Given the description of an element on the screen output the (x, y) to click on. 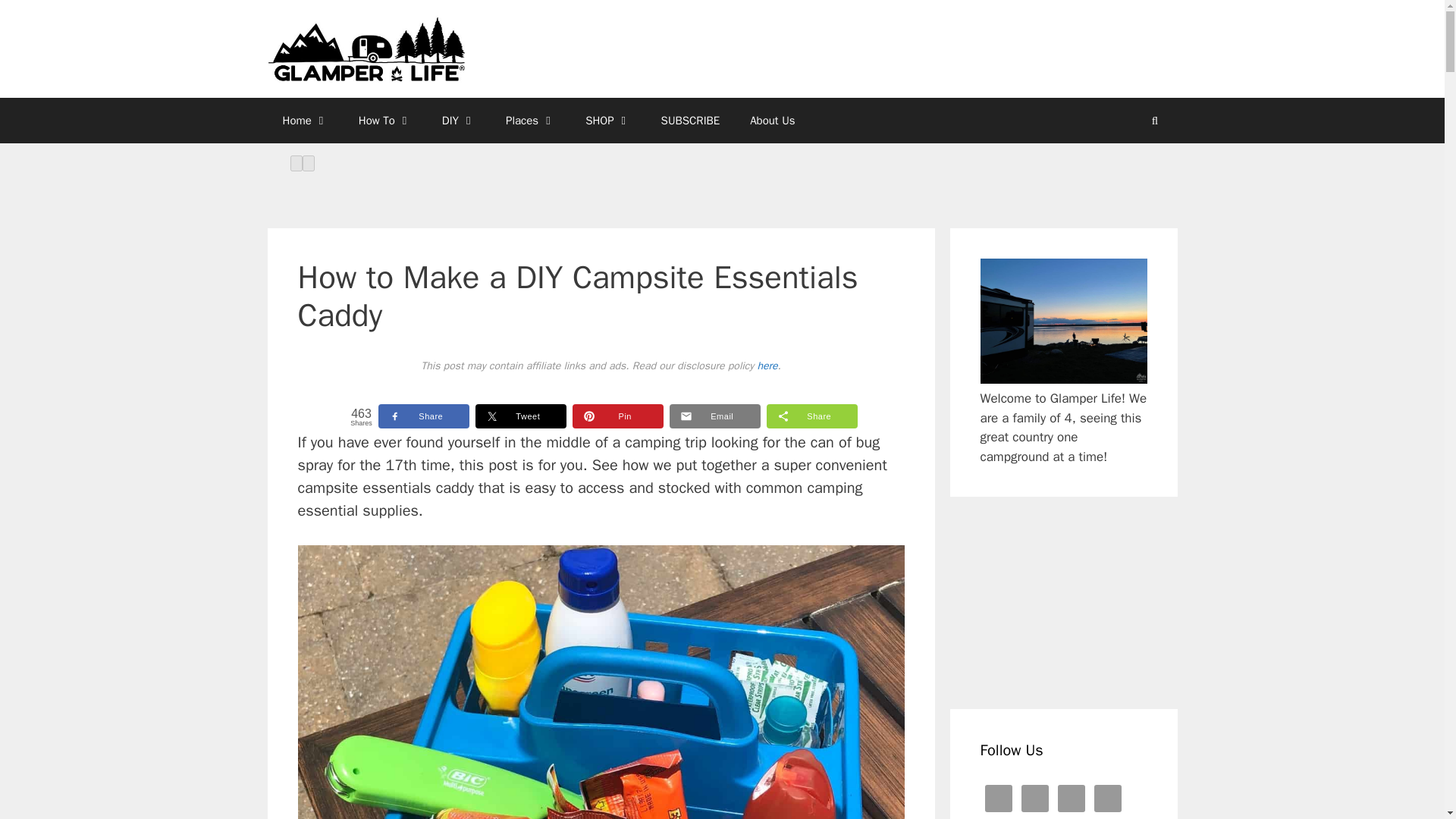
SUBSCRIBE (690, 120)
About Us (772, 120)
SHOP (607, 120)
DIY (458, 120)
here (767, 365)
Home (304, 120)
Places (530, 120)
How To (384, 120)
